Given the description of an element on the screen output the (x, y) to click on. 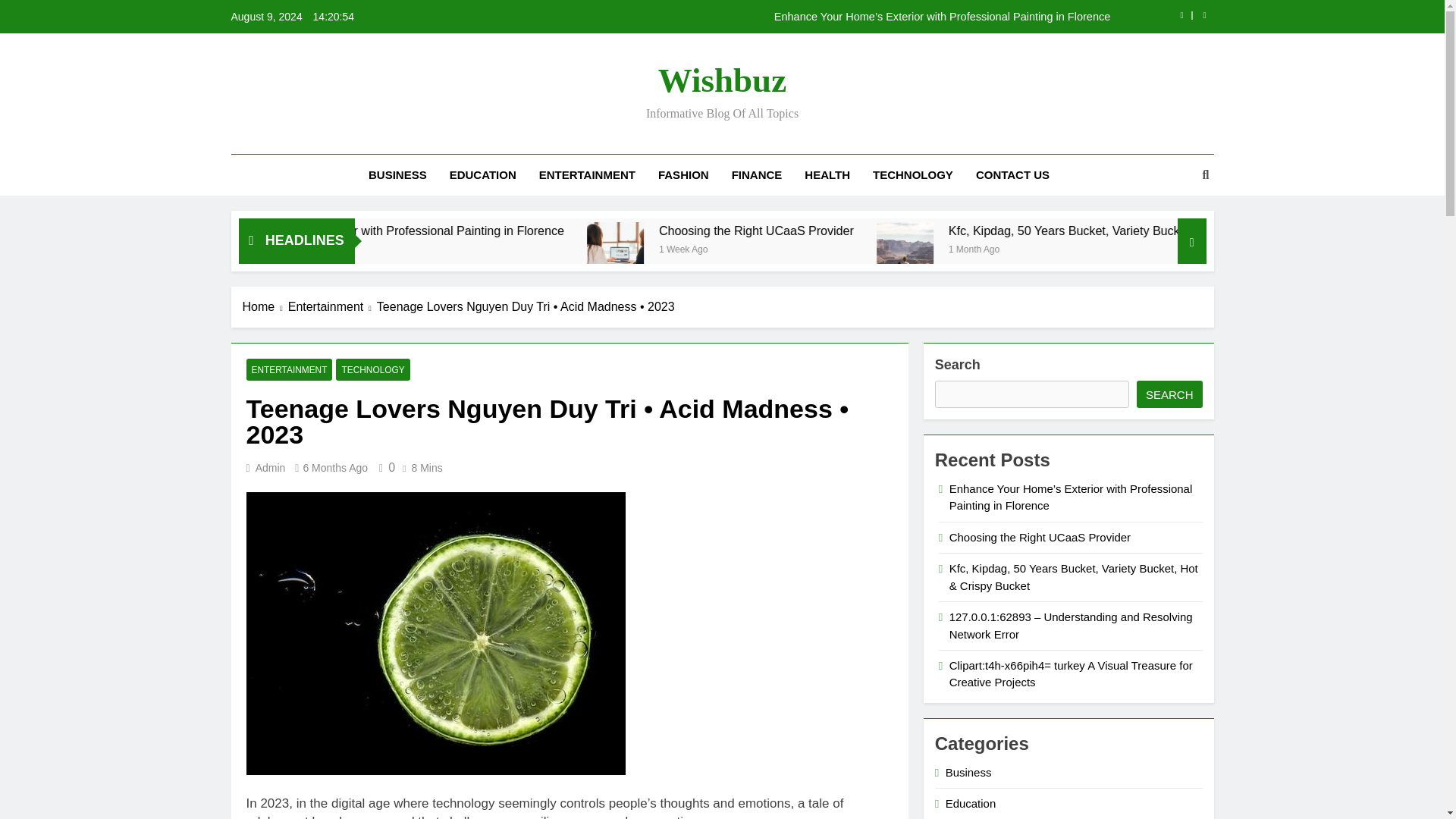
Choosing the Right UCaaS Provider (777, 250)
EDUCATION (482, 174)
1 Month Ago (1179, 247)
FASHION (683, 174)
Wishbuz (722, 80)
FINANCE (756, 174)
BUSINESS (397, 174)
Choosing the Right UCaaS Provider (967, 230)
CONTACT US (1012, 174)
1 Week Ago (433, 247)
